Given the description of an element on the screen output the (x, y) to click on. 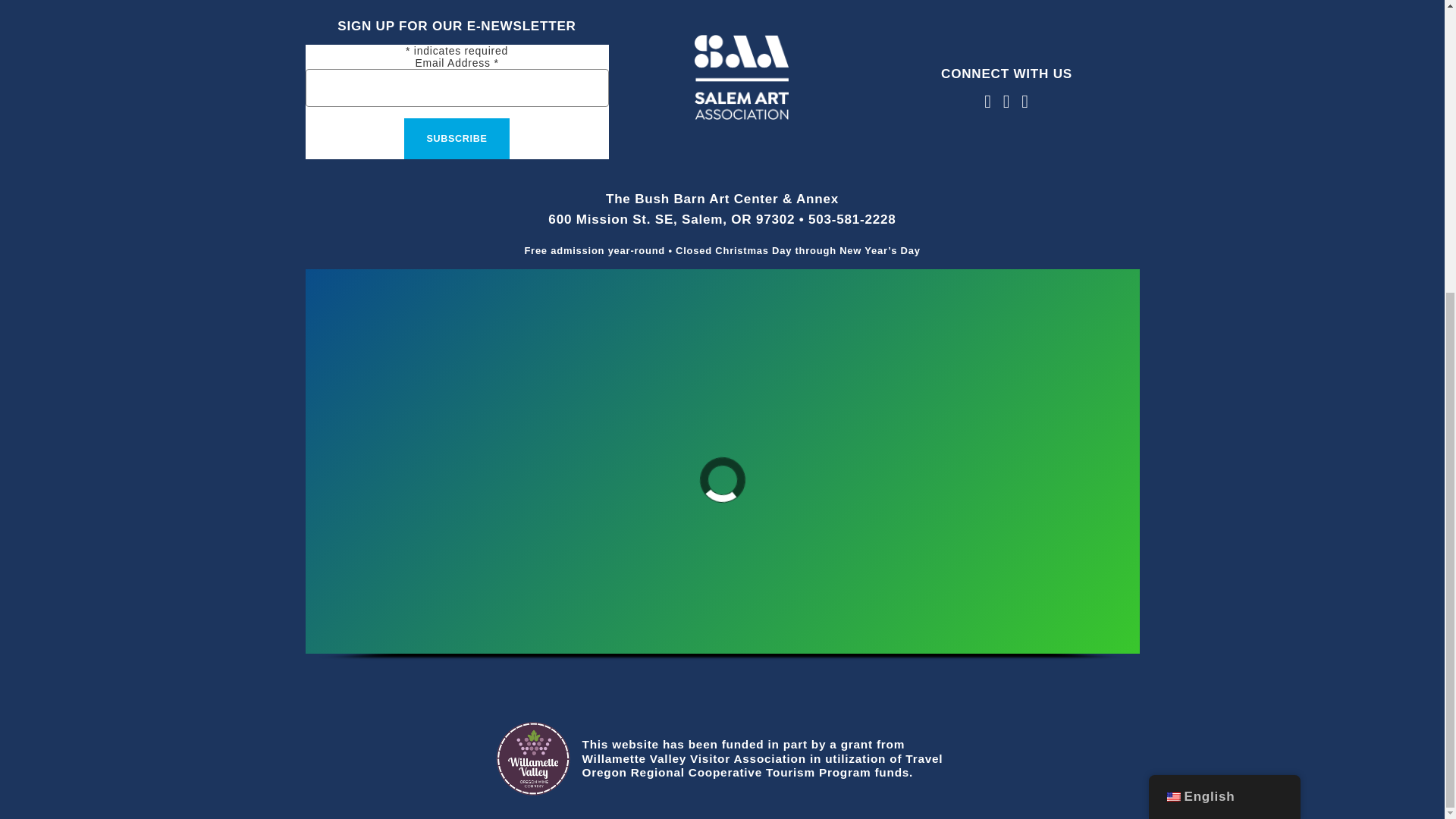
English (1172, 348)
Subscribe (457, 137)
